Given the description of an element on the screen output the (x, y) to click on. 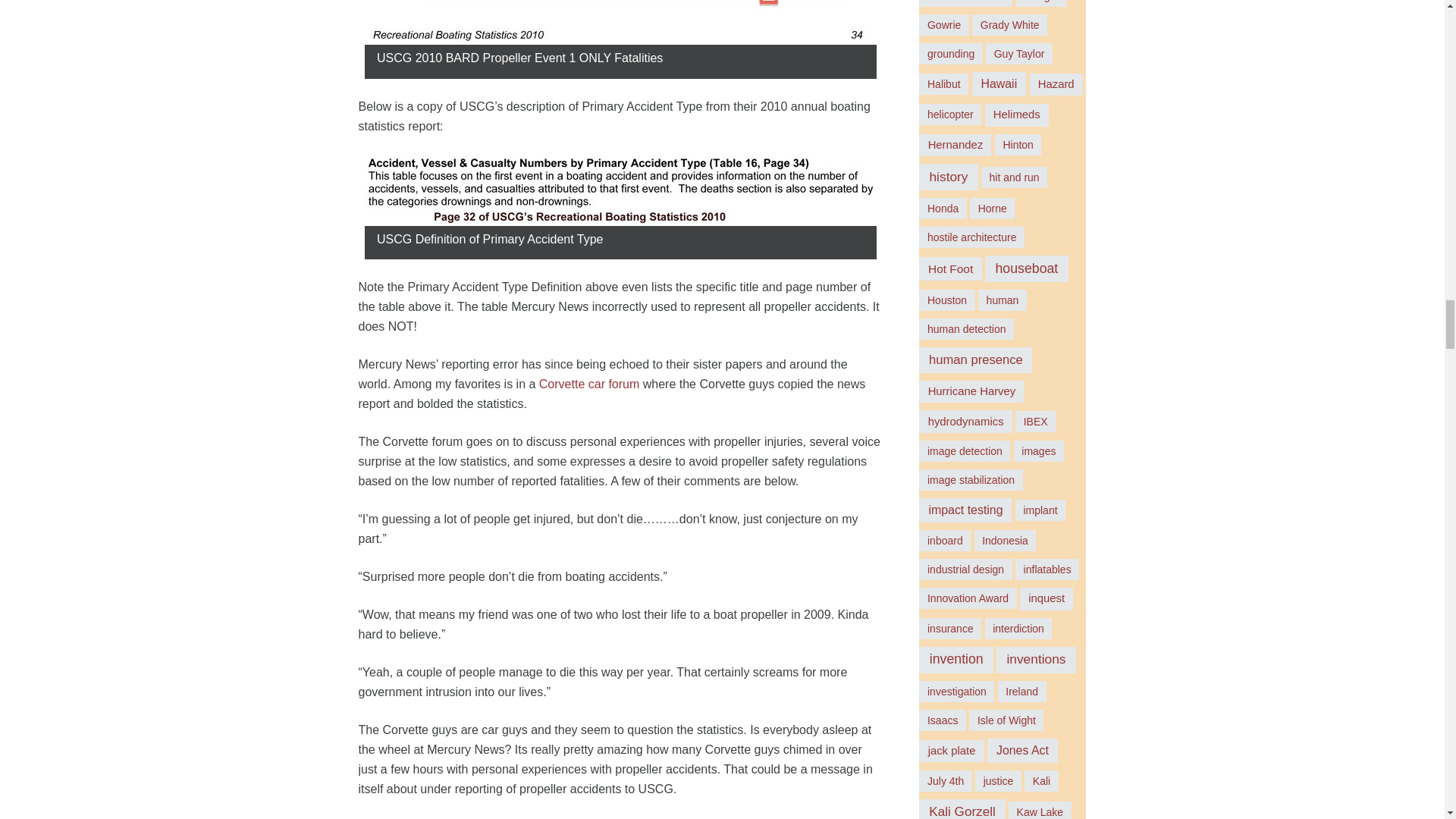
USCG 2010 BARD Propeller Event 1 ONLY Fatalities (620, 22)
USCG Definition of Primary Accident Type (620, 189)
